Given the description of an element on the screen output the (x, y) to click on. 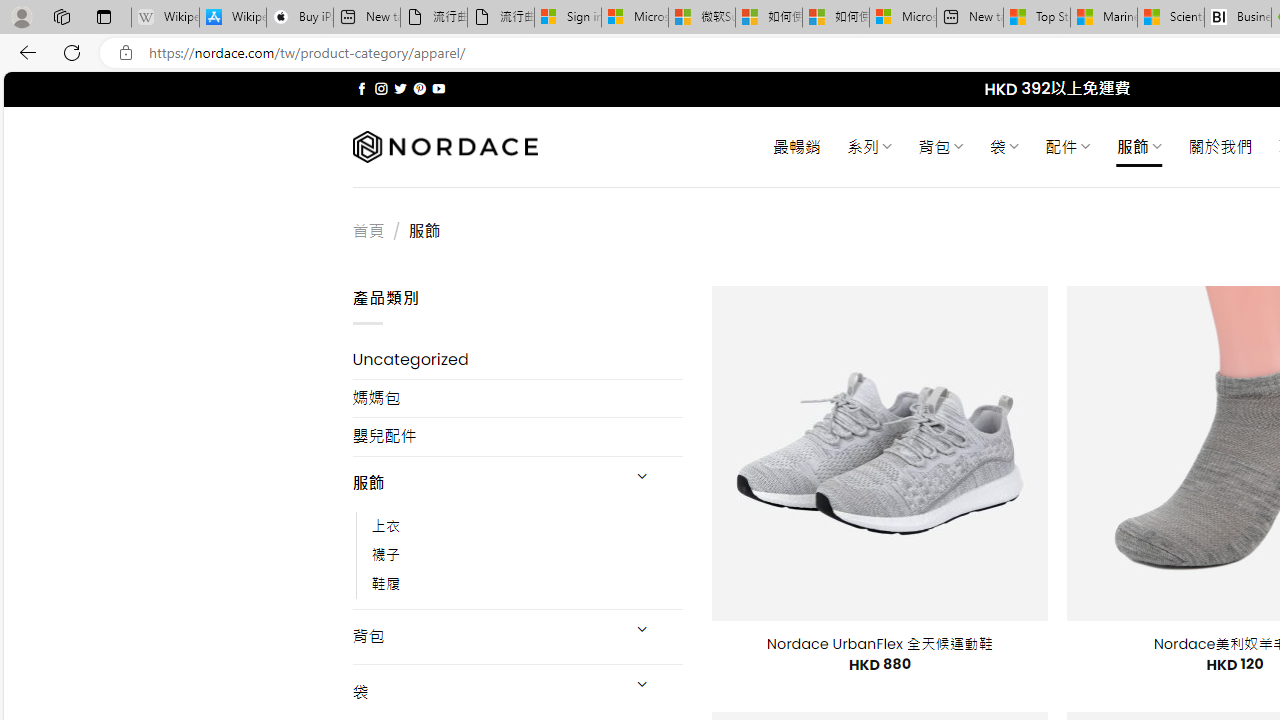
Follow on Pinterest (419, 88)
Follow on Facebook (361, 88)
